Given the description of an element on the screen output the (x, y) to click on. 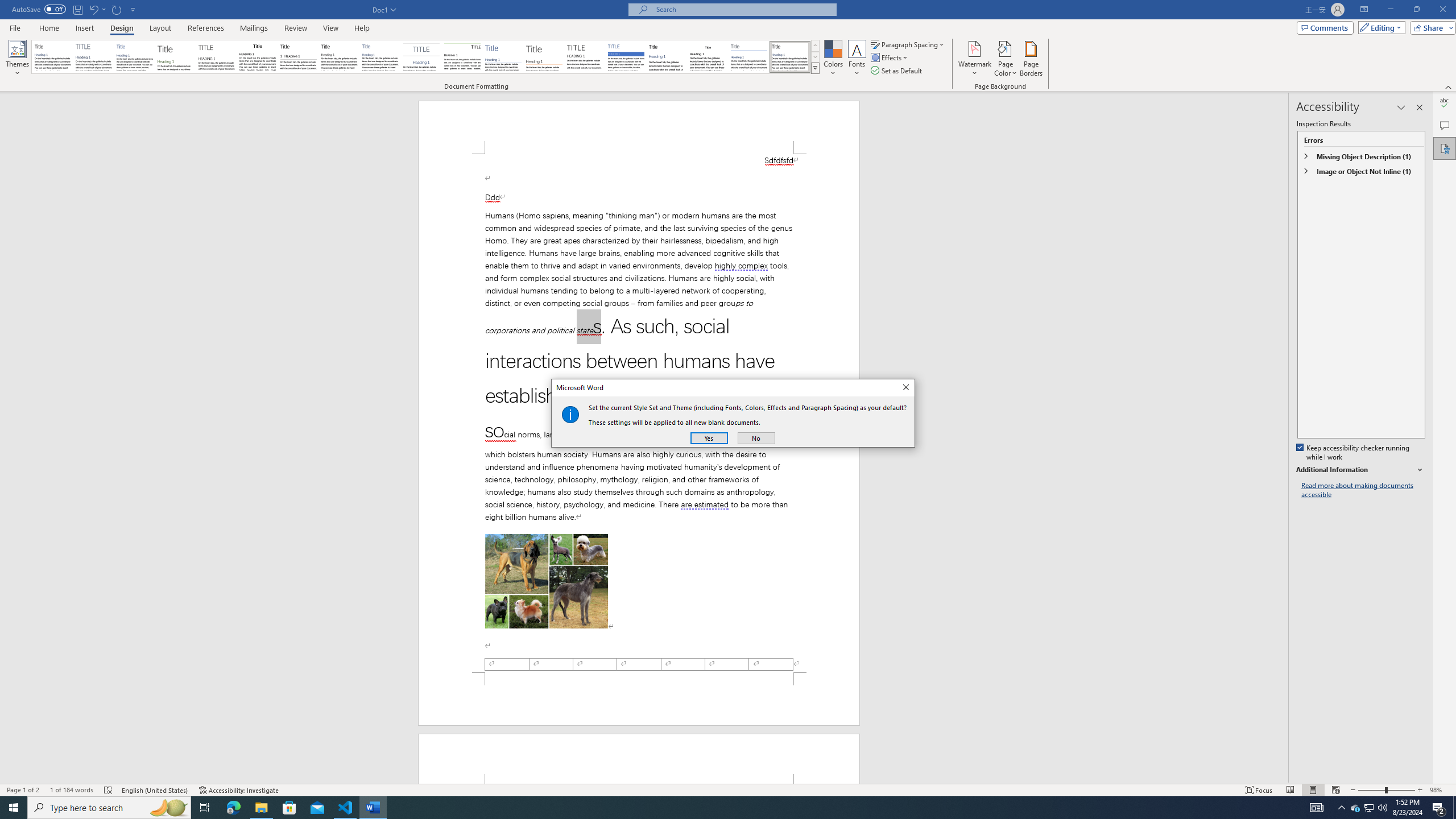
Basic (Simple) (135, 56)
No (756, 437)
Black & White (Capitalized) (216, 56)
Black & White (Numbered) (298, 56)
Undo Apply Quick Style Set (96, 9)
Themes (17, 58)
Document (52, 56)
